Given the description of an element on the screen output the (x, y) to click on. 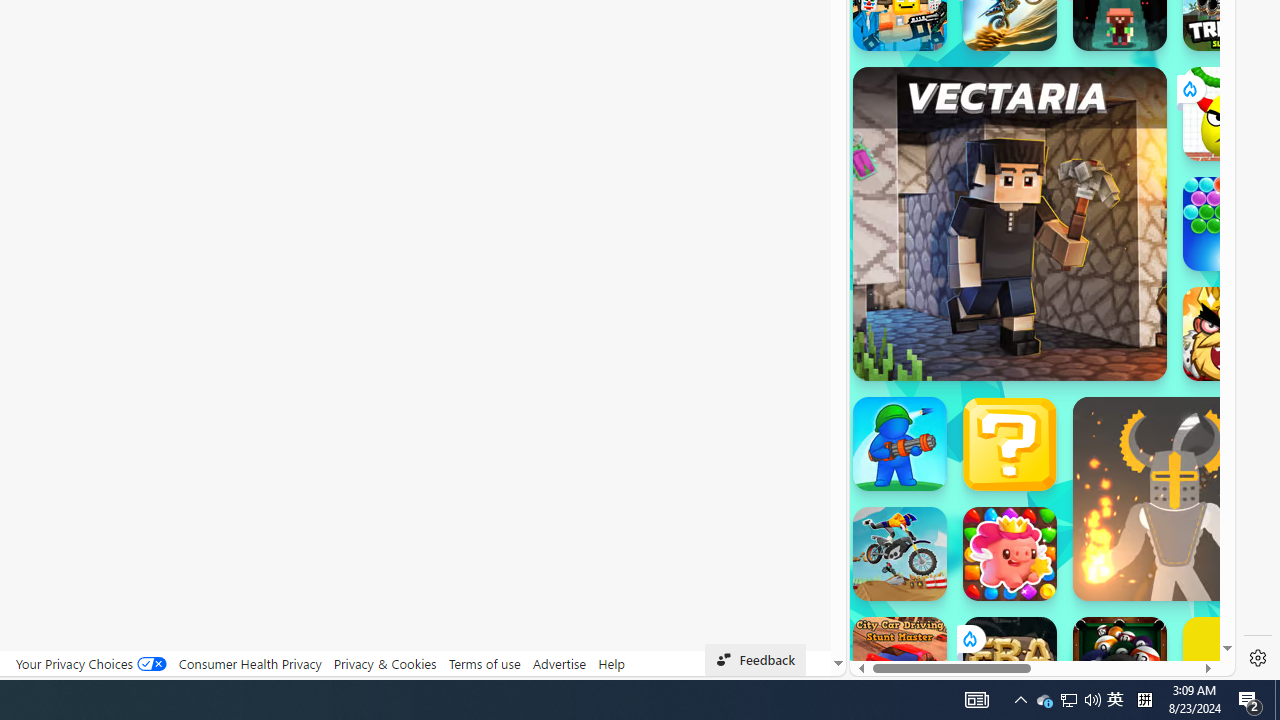
Match Arena Match Arena (1009, 553)
Ragdoll Hit (1174, 498)
Hills of Steel Hills of Steel poki.com (943, 245)
War Master War Master (899, 443)
Consumer Health Privacy (249, 663)
Like a King (1229, 333)
Crazy Bikes (899, 553)
Match Arena (1009, 553)
Combat Reloaded (1092, 200)
Combat Reloaded (1090, 290)
8 Ball Pool With Buddies 8 Ball Pool With Buddies (1119, 664)
Hills of Steel (943, 200)
